Given the description of an element on the screen output the (x, y) to click on. 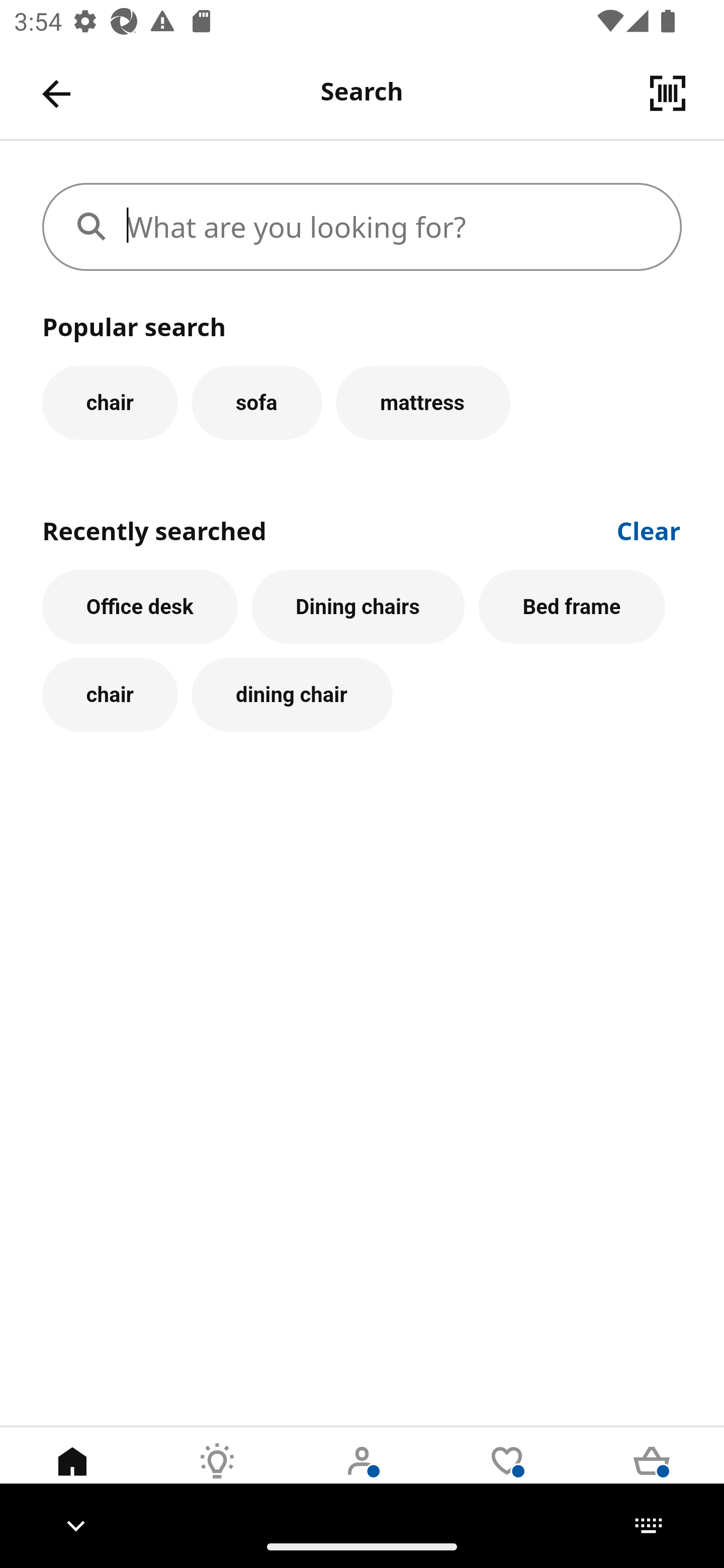
chair (109, 402)
sofa (256, 402)
mattress (423, 402)
Clear (649, 528)
Office desk (139, 606)
Dining chairs (357, 606)
Bed frame (571, 606)
chair (109, 695)
dining chair (291, 695)
Home
Tab 1 of 5 (72, 1476)
Inspirations
Tab 2 of 5 (216, 1476)
User
Tab 3 of 5 (361, 1476)
Wishlist
Tab 4 of 5 (506, 1476)
Cart
Tab 5 of 5 (651, 1476)
